Given the description of an element on the screen output the (x, y) to click on. 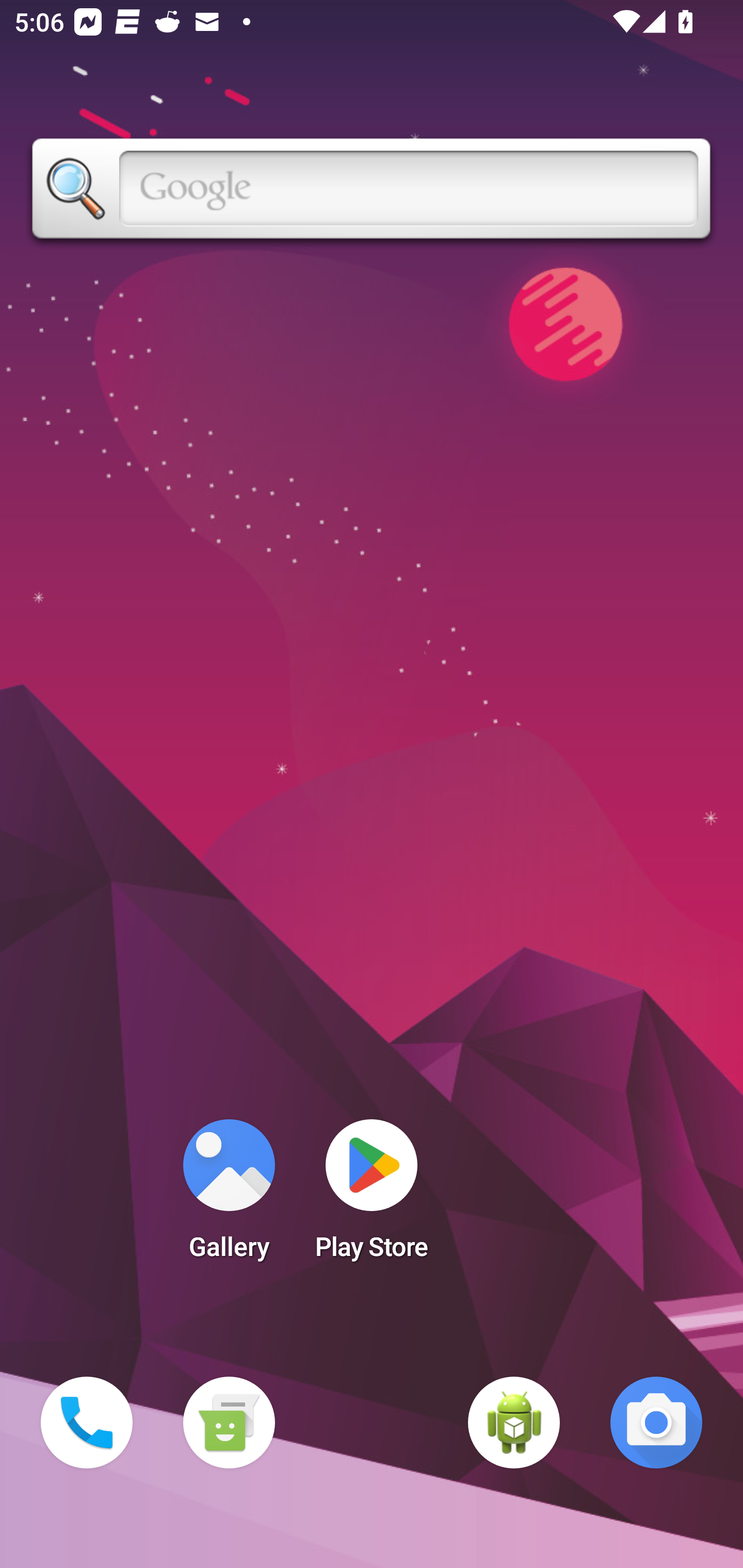
Gallery (228, 1195)
Play Store (371, 1195)
Phone (86, 1422)
Messaging (228, 1422)
WebView Browser Tester (513, 1422)
Camera (656, 1422)
